Given the description of an element on the screen output the (x, y) to click on. 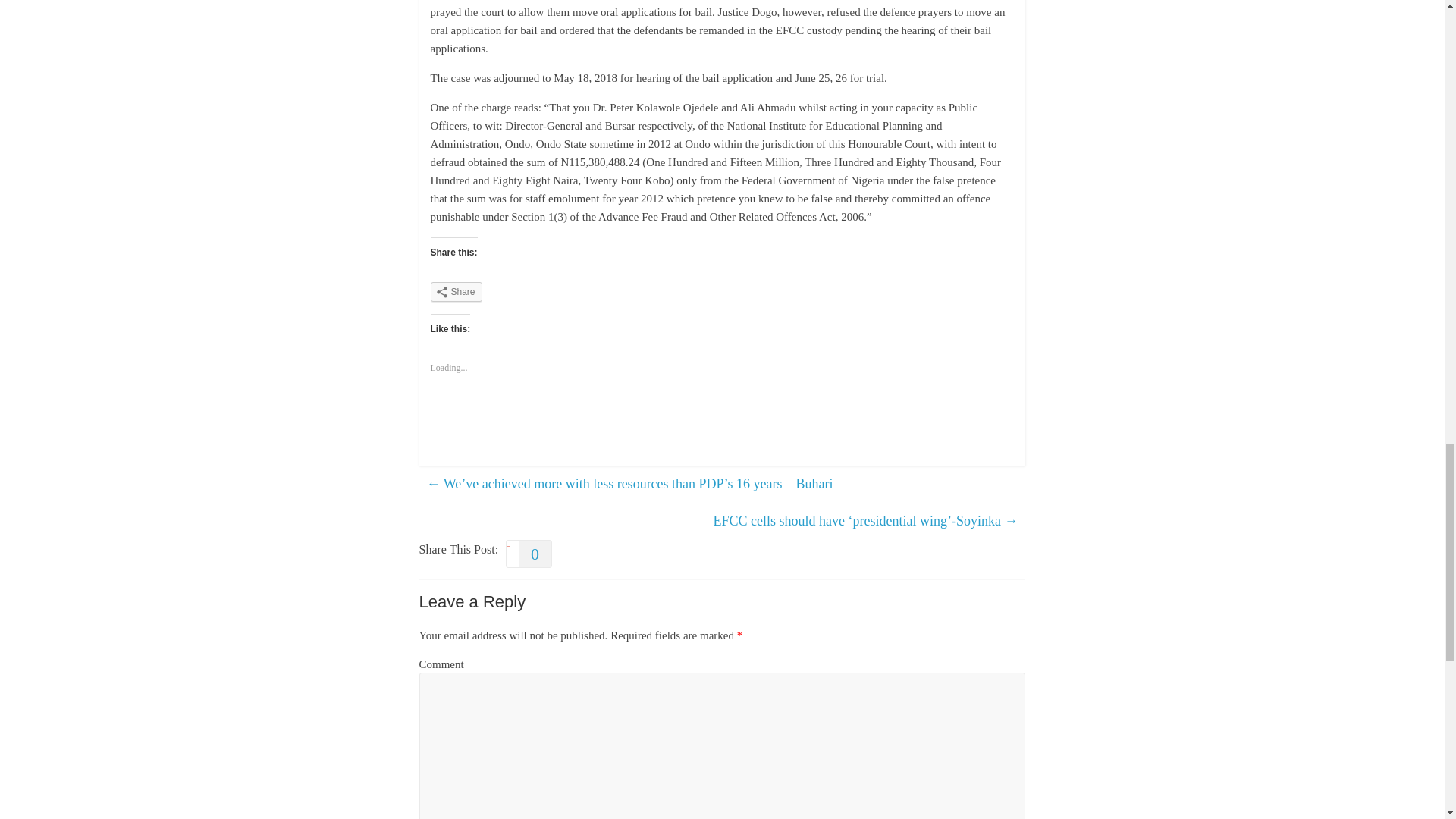
0 (528, 553)
Share (455, 291)
